Given the description of an element on the screen output the (x, y) to click on. 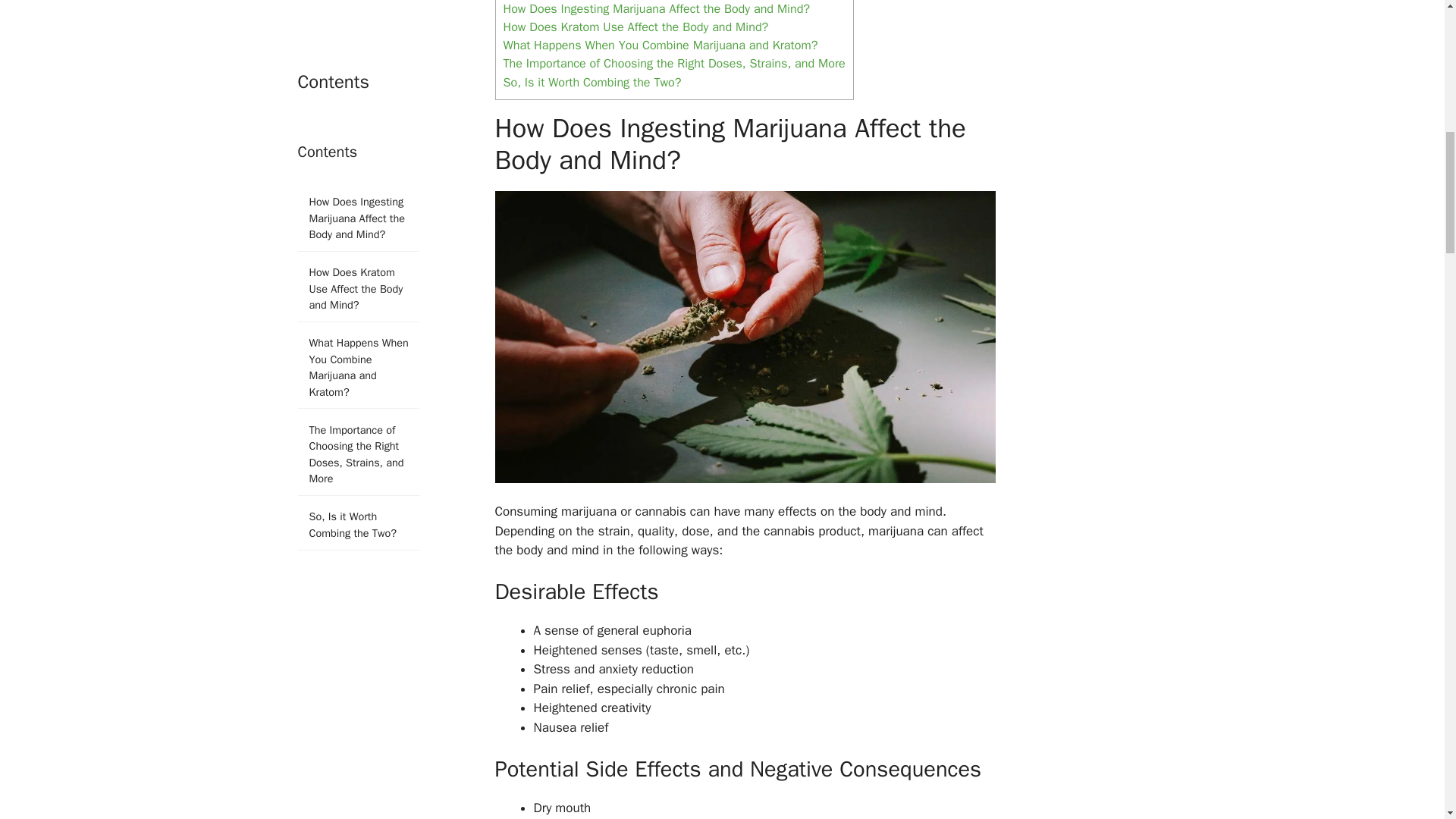
How Does Kratom Use Affect the Body and Mind? (635, 26)
So, Is it Worth Combing the Two? (592, 82)
What Happens When You Combine Marijuana and Kratom? (660, 44)
How Does Ingesting Marijuana Affect the Body and Mind? (656, 8)
